Given the description of an element on the screen output the (x, y) to click on. 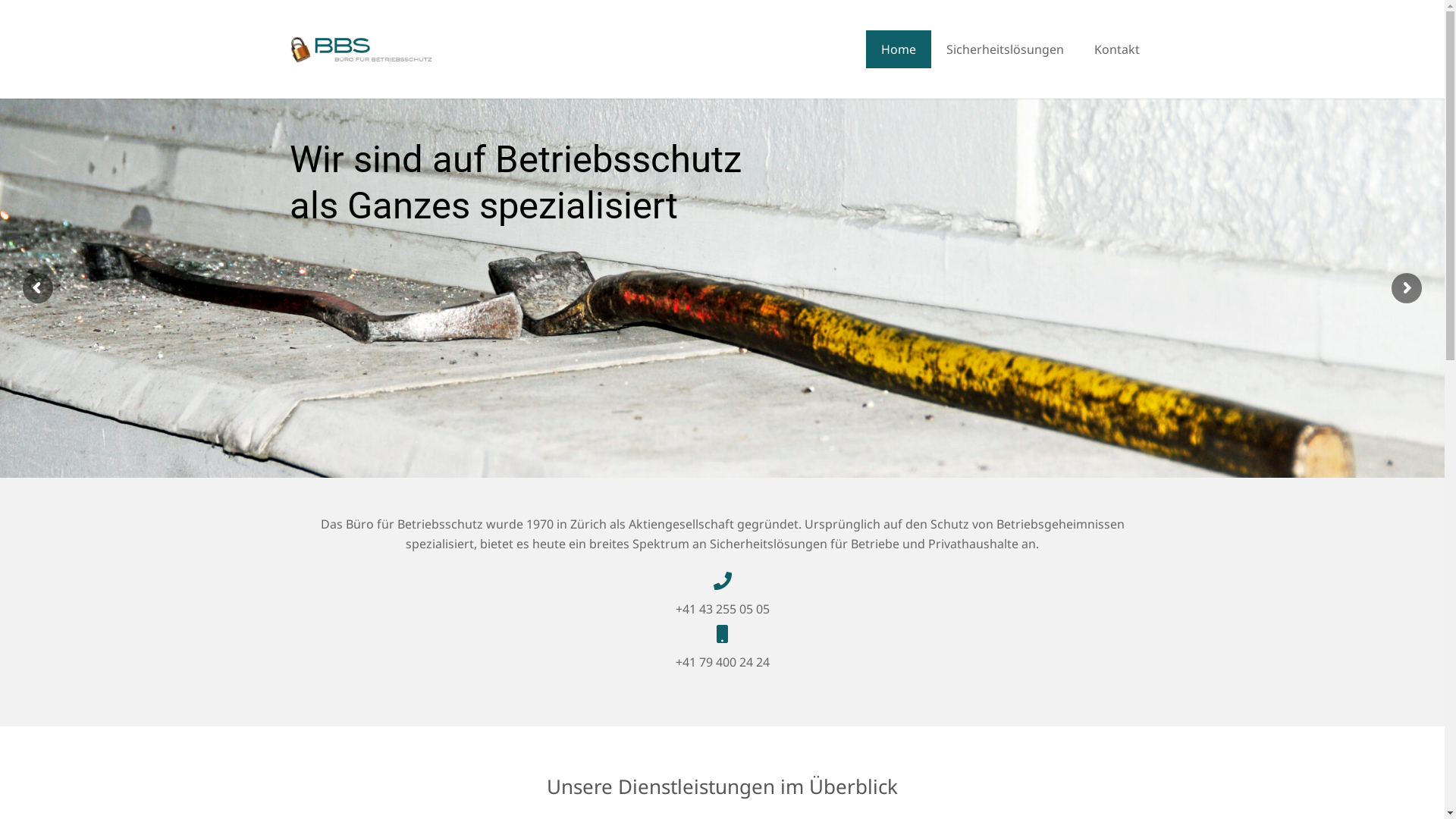
Kontakt Element type: text (1116, 49)
Home Element type: text (898, 49)
